Given the description of an element on the screen output the (x, y) to click on. 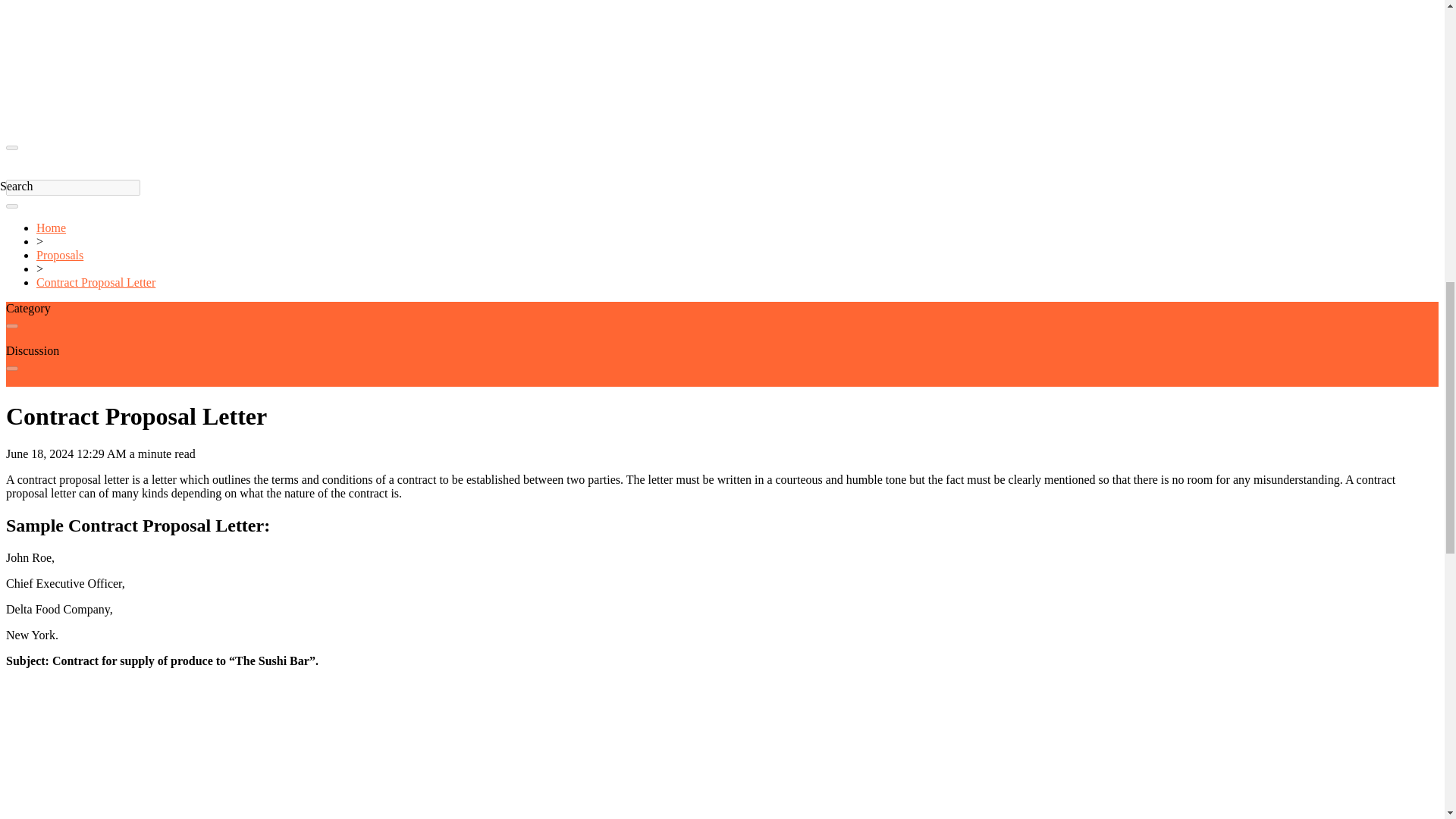
Contract Proposal Letter (95, 282)
Proposals (59, 254)
Home (50, 227)
